Given the description of an element on the screen output the (x, y) to click on. 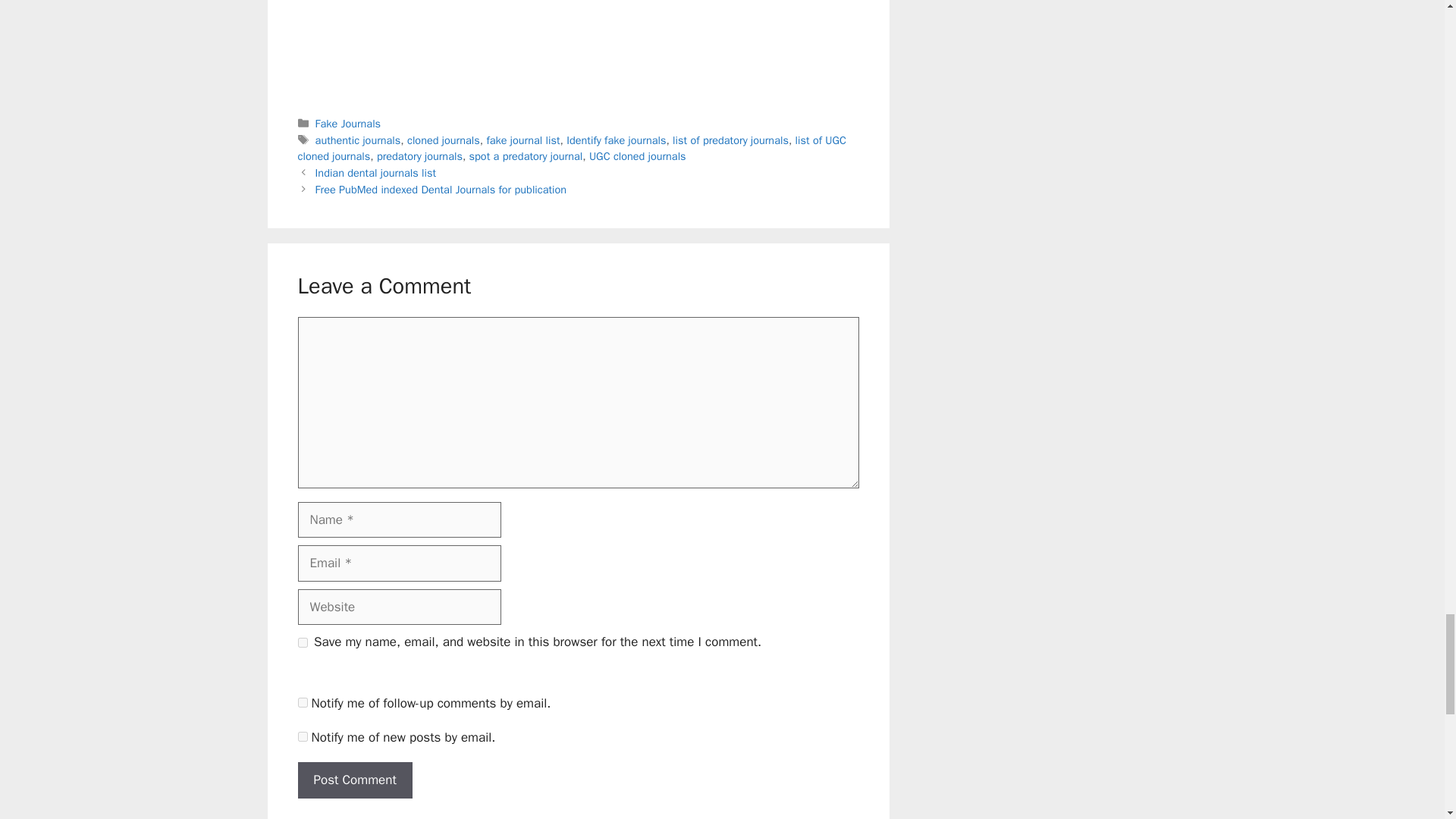
yes (302, 642)
Post Comment (354, 780)
subscribe (302, 702)
subscribe (302, 737)
